Given the description of an element on the screen output the (x, y) to click on. 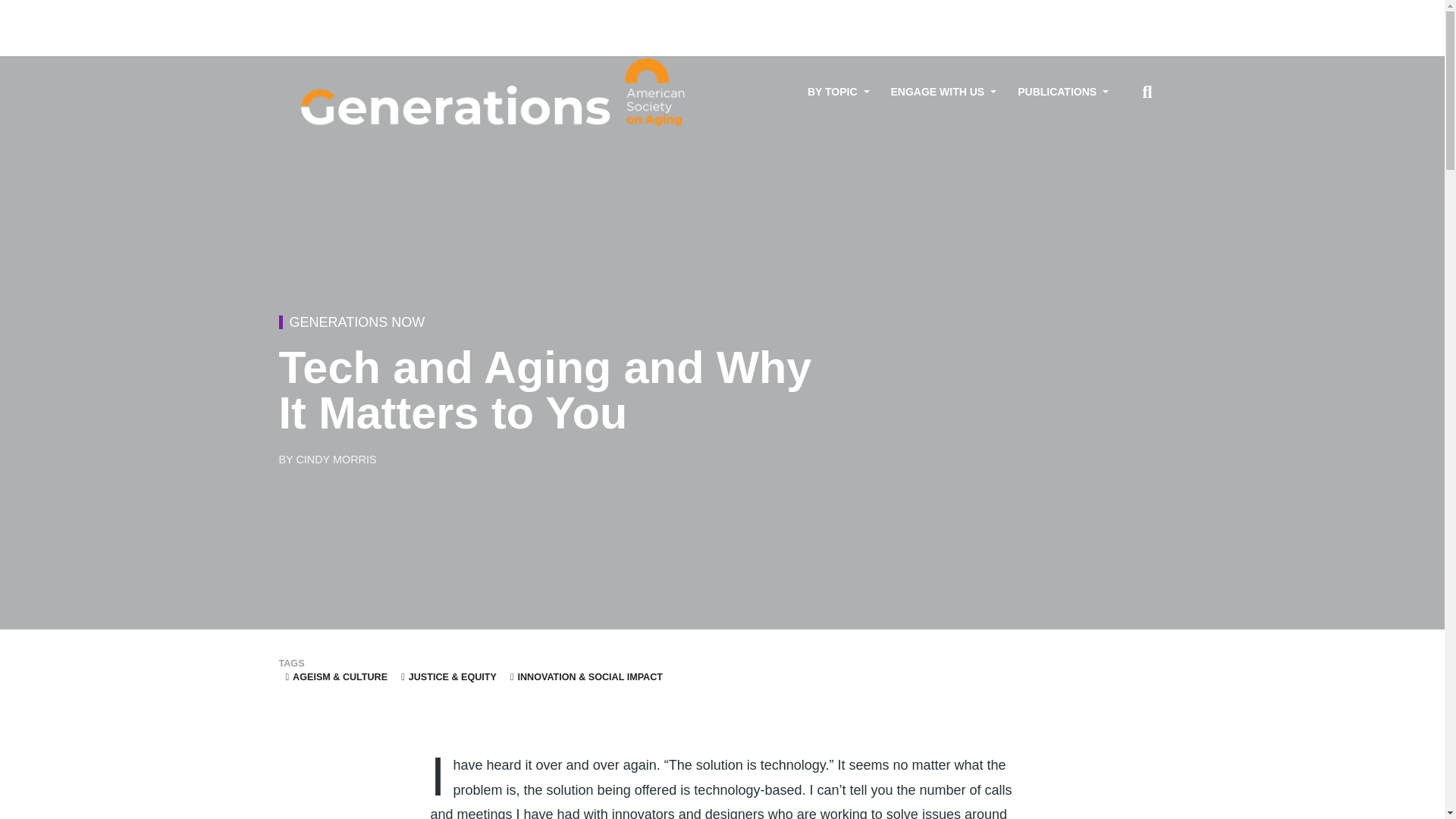
Login (1142, 13)
Home (495, 91)
Join ASA (1096, 13)
ENGAGE WITH US (943, 92)
PUBLICATIONS (1063, 92)
Login (1142, 13)
Learn more, get involved, listen to our podcasts (943, 92)
